Given the description of an element on the screen output the (x, y) to click on. 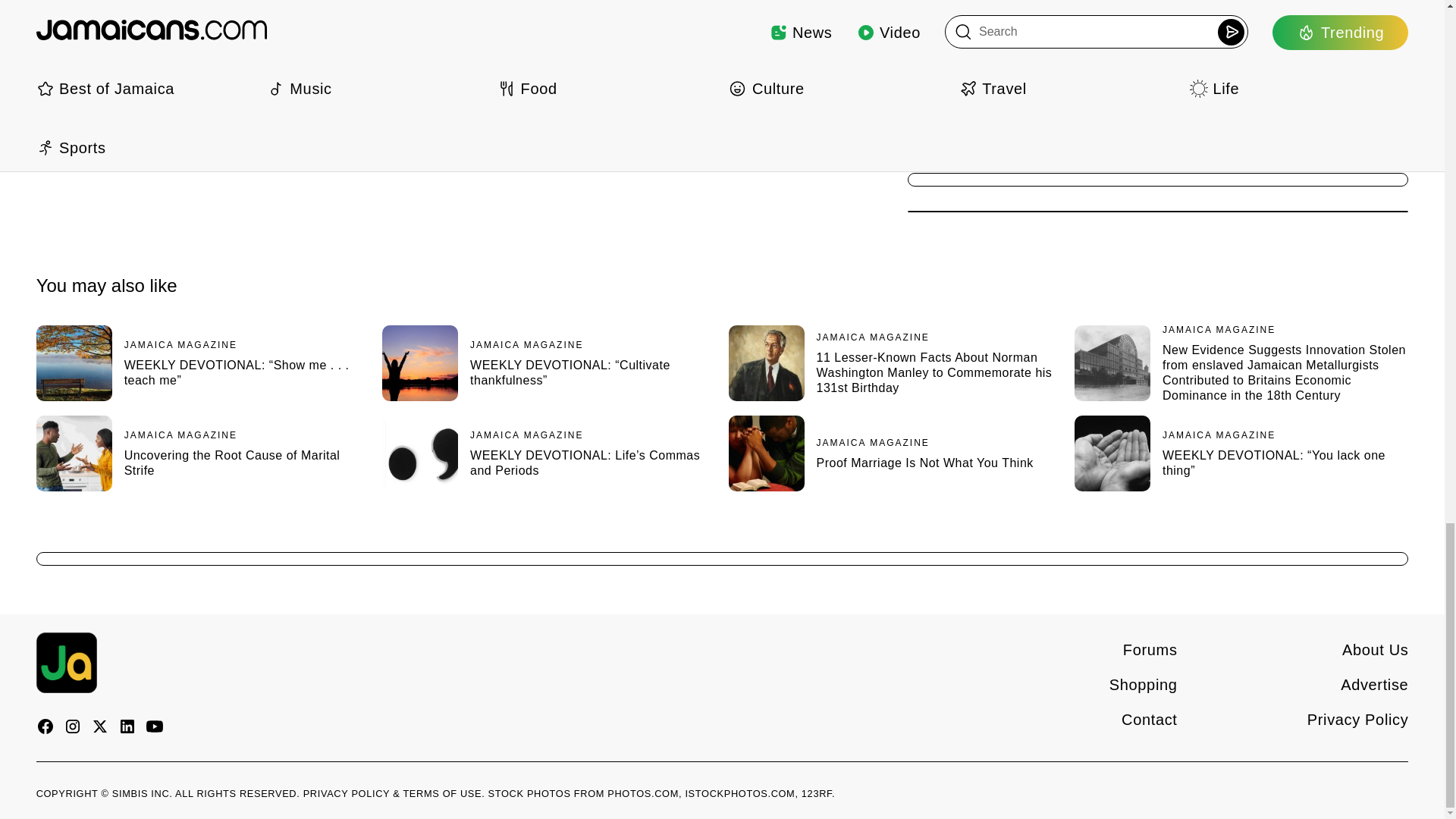
Staff Writer (177, 25)
View all posts (189, 63)
